Given the description of an element on the screen output the (x, y) to click on. 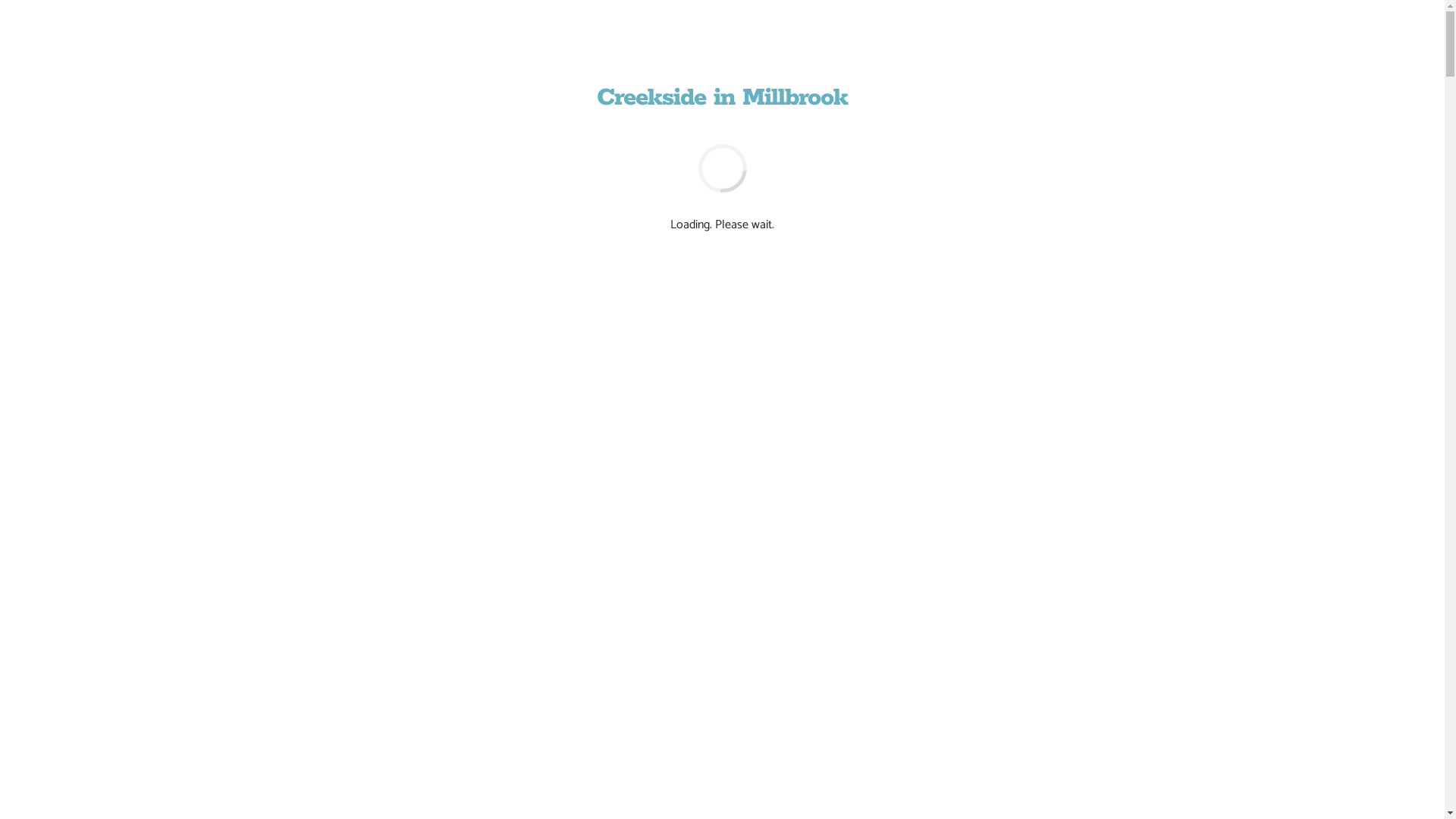
CONTACT US Element type: text (758, 605)
Creekside in Millbrook Element type: text (721, 97)
